Given the description of an element on the screen output the (x, y) to click on. 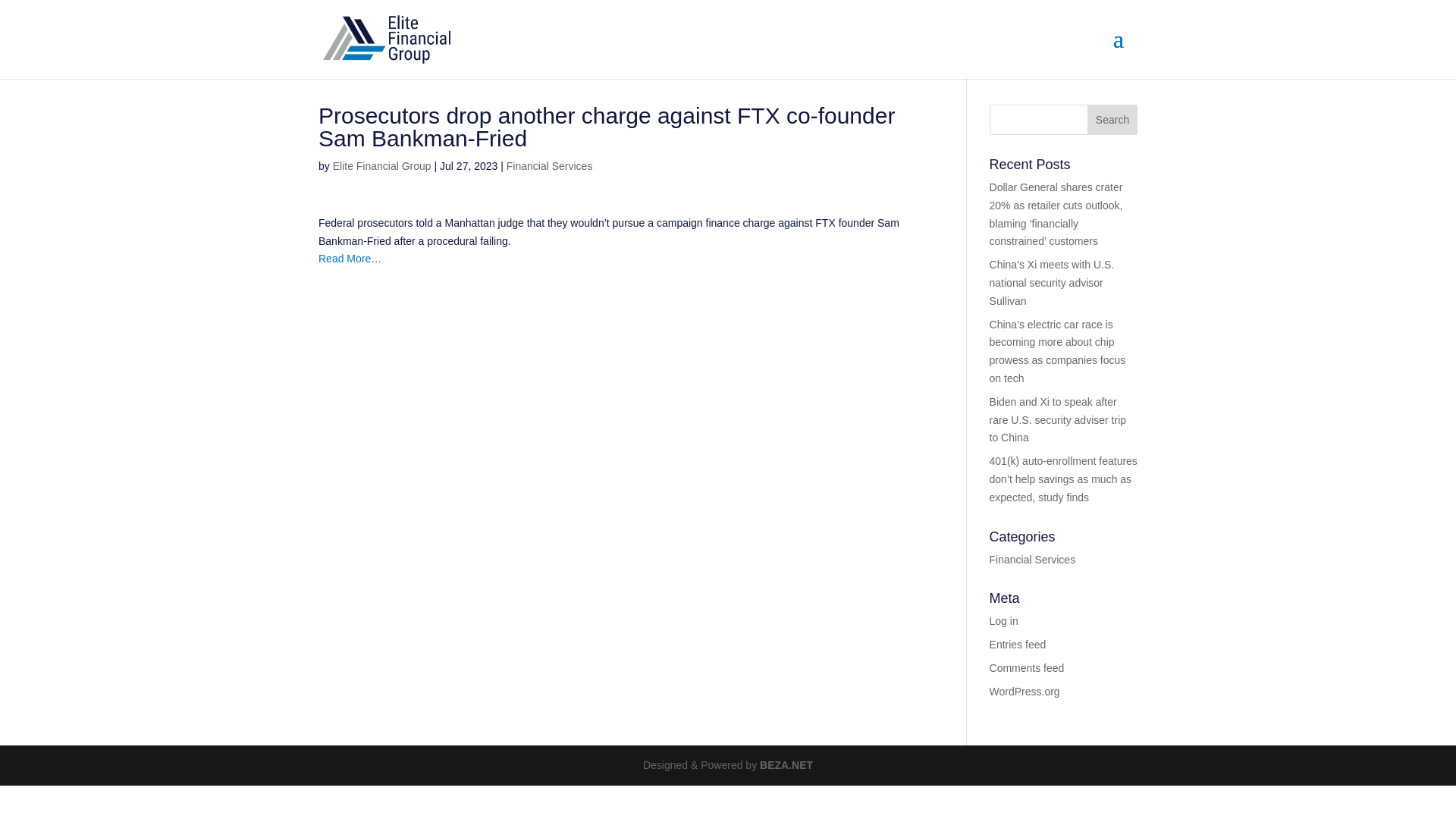
Search (1112, 119)
Elite Financial Group (381, 165)
BEZA.NET (786, 765)
Posts by Elite Financial Group (381, 165)
Log in (1003, 621)
Entries feed (1018, 644)
WordPress.org (1024, 691)
Financial Services (1032, 559)
Comments feed (1027, 667)
